Given the description of an element on the screen output the (x, y) to click on. 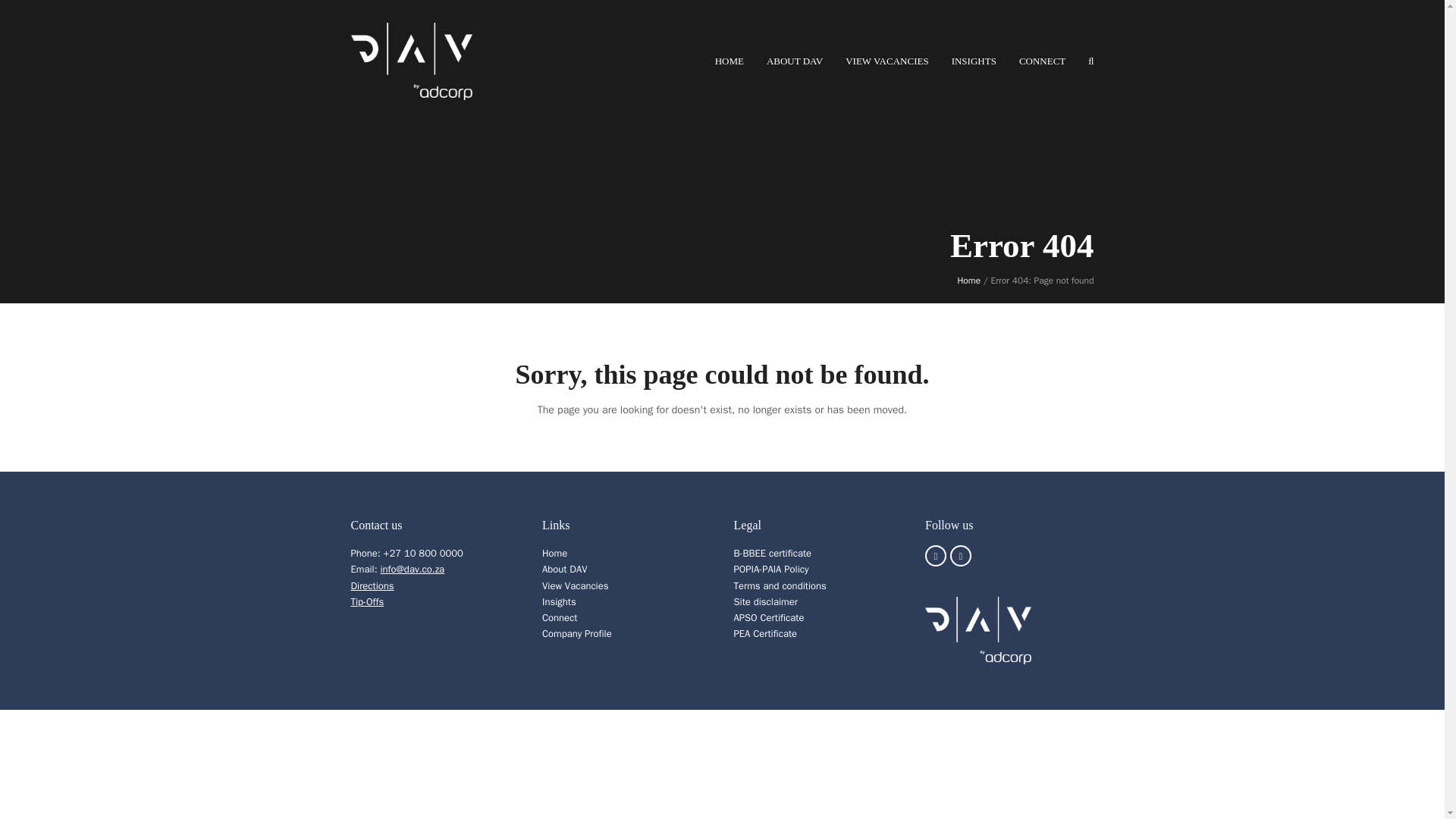
Connect (558, 617)
Company Profile (576, 633)
Directions (371, 585)
HOME (729, 61)
CONNECT (1042, 61)
Facebook (935, 555)
LinkedIn (960, 555)
INSIGHTS (973, 61)
View Vacancies (574, 585)
PEA Certificate (765, 633)
